Given the description of an element on the screen output the (x, y) to click on. 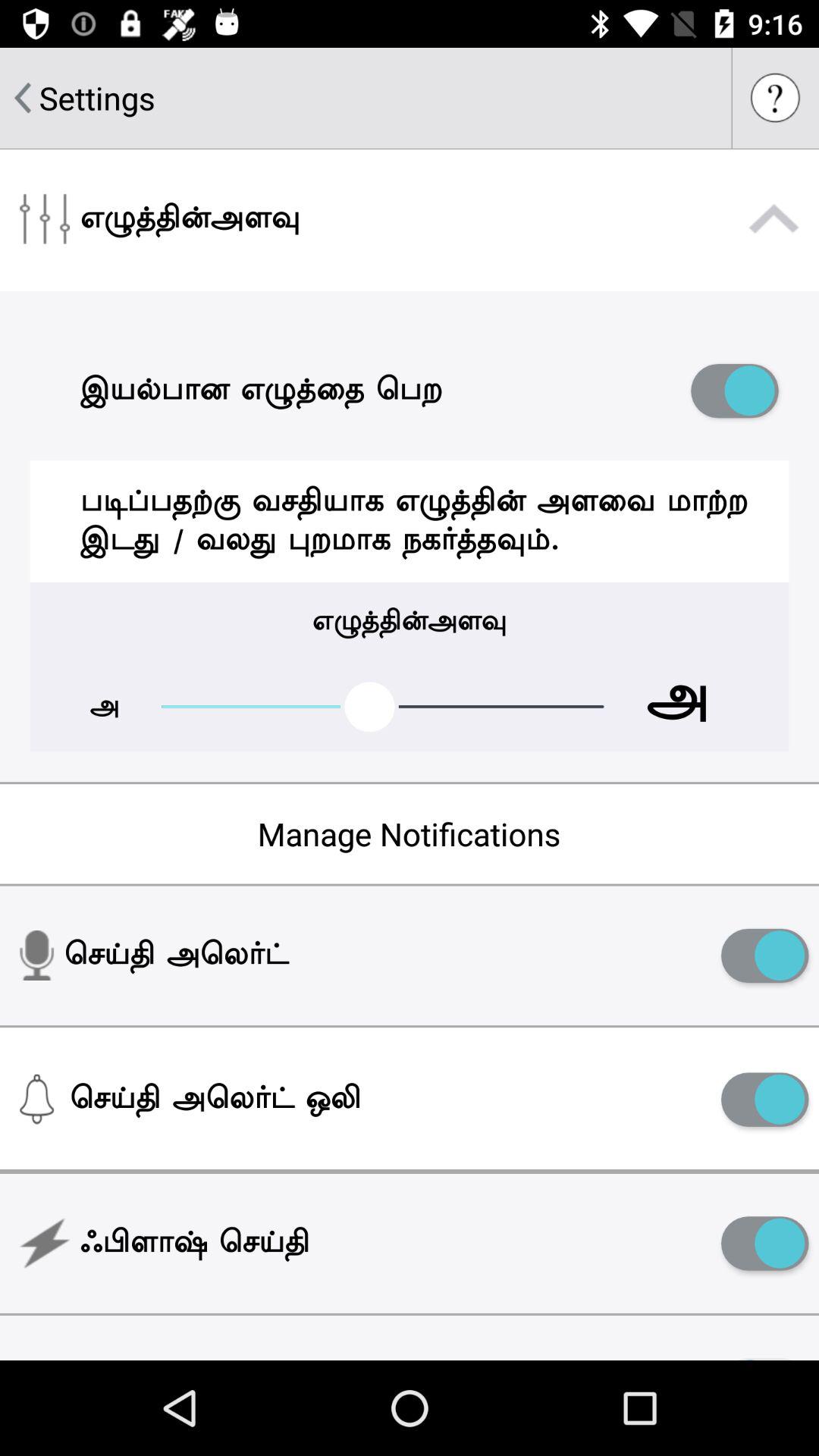
a universal app that cover most everything (764, 1243)
